Given the description of an element on the screen output the (x, y) to click on. 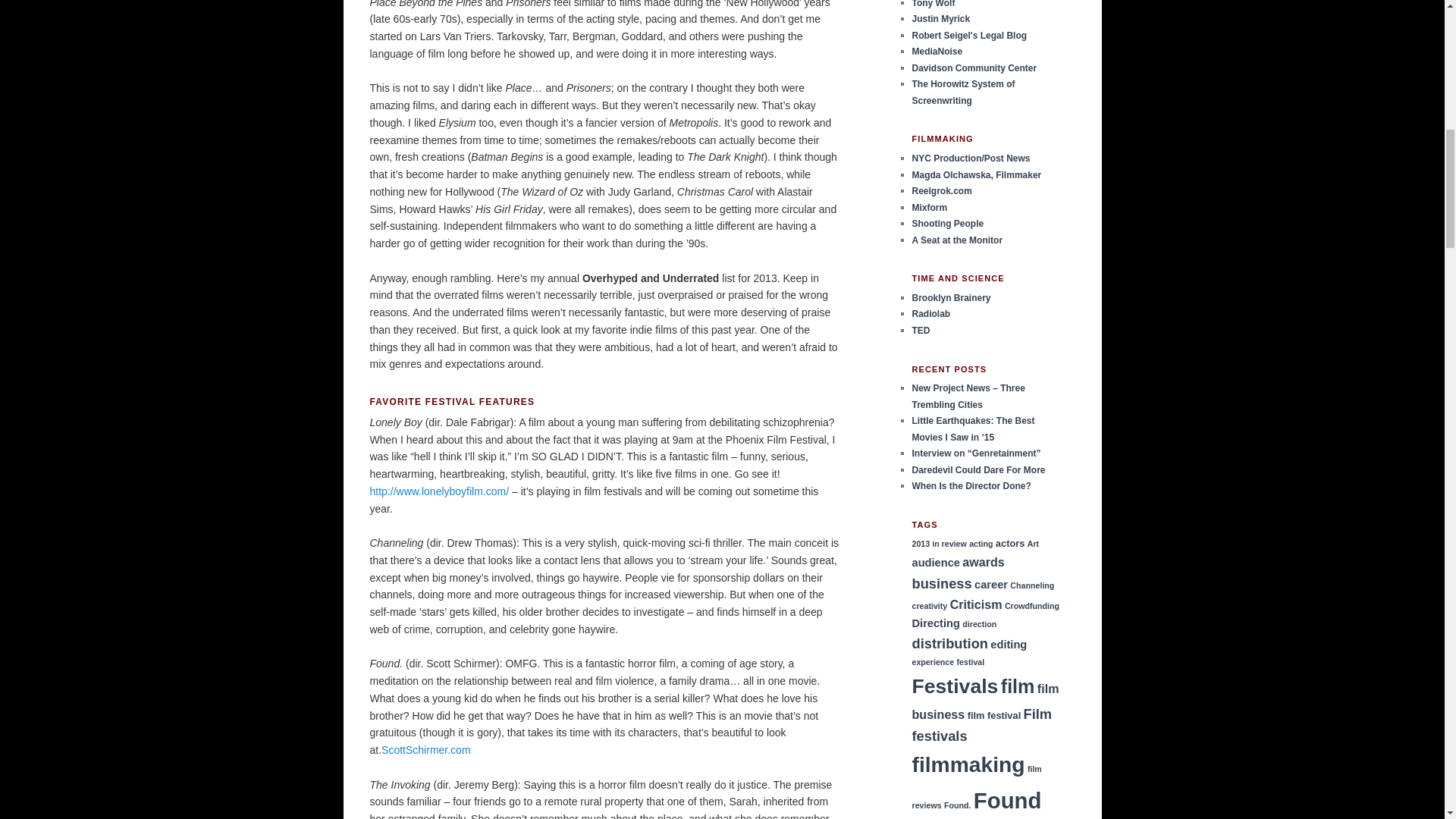
ScottSchirmer.com (425, 749)
